Given the description of an element on the screen output the (x, y) to click on. 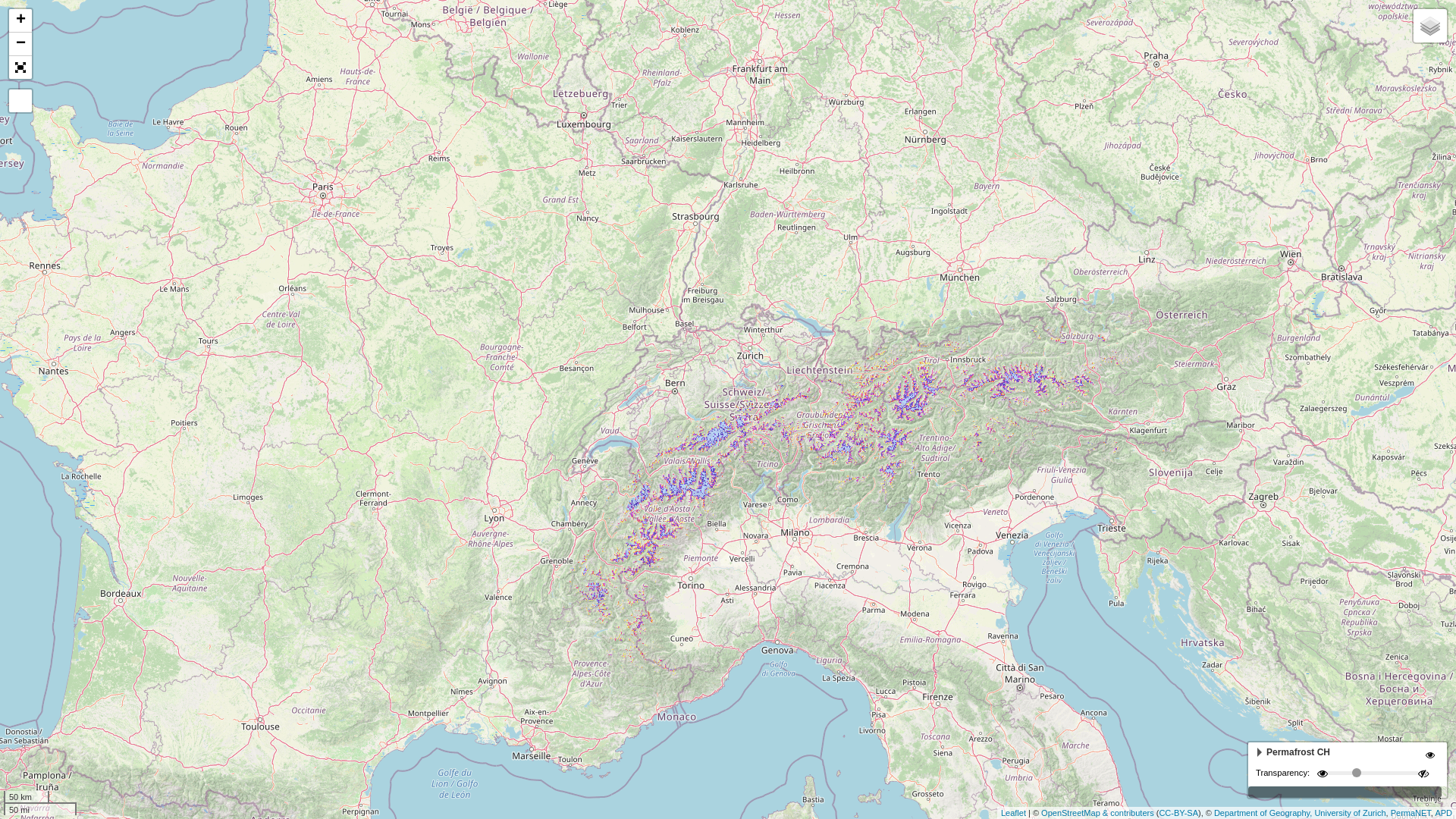
PermaNET Element type: text (1410, 812)
APD Element type: text (1443, 812)
+ Element type: text (20, 20)
Layers Element type: hover (1429, 25)
Department of Geography, University of Zurich Element type: text (1300, 812)
OpenStreetMap & contributers Element type: text (1097, 812)
Full Screen Element type: hover (20, 67)
CC-BY-SA Element type: text (1178, 812)
Leaflet Element type: text (1013, 812)
